Given the description of an element on the screen output the (x, y) to click on. 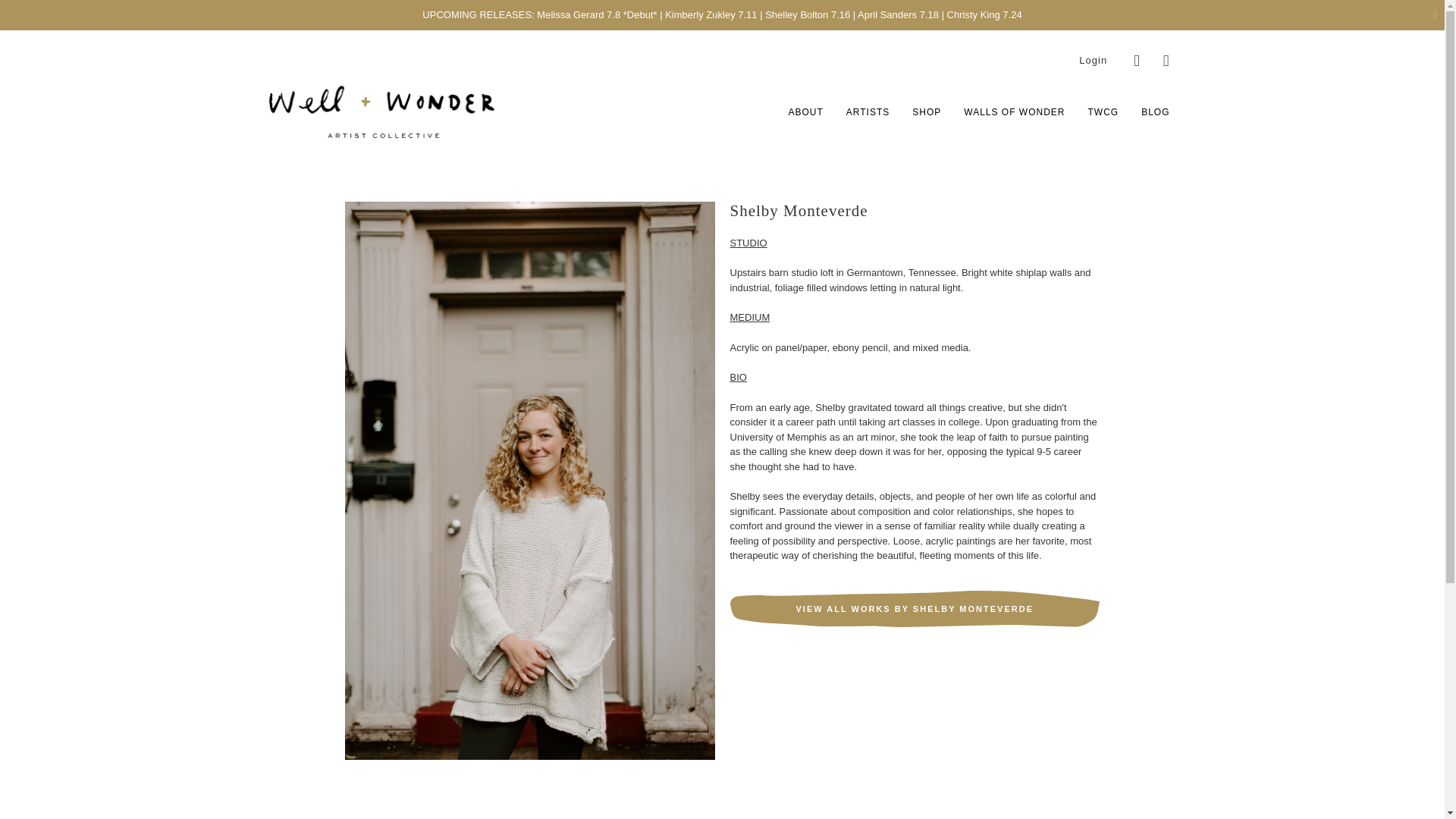
ABOUT (804, 112)
SHOP (926, 112)
Login (1092, 60)
My Account  (1092, 60)
WALLS OF WONDER (1013, 112)
BLOG (1155, 112)
ARTISTS (867, 112)
TWCG (1102, 112)
